Given the description of an element on the screen output the (x, y) to click on. 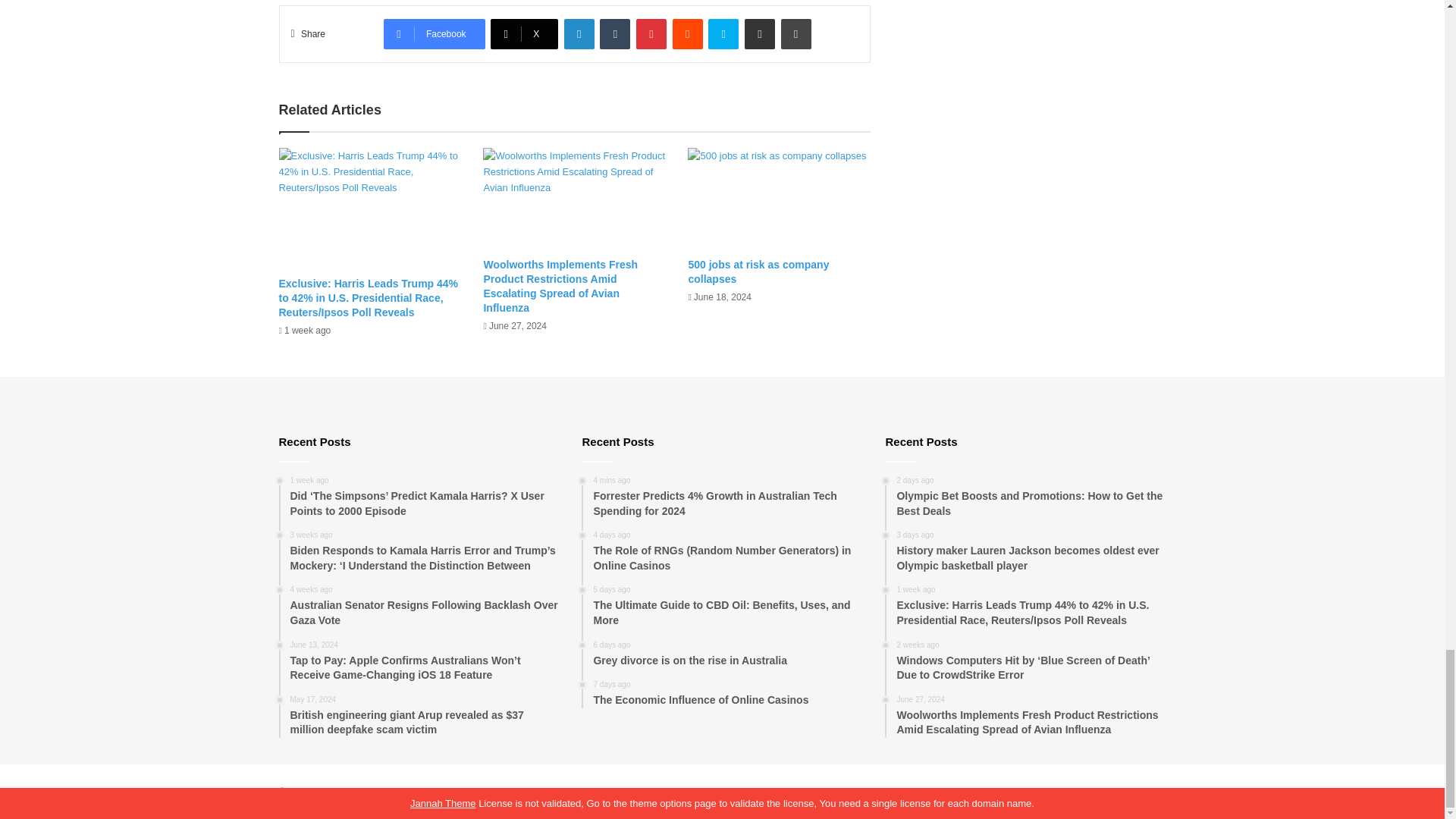
Facebook (434, 33)
Skype (722, 33)
Pinterest (651, 33)
Tumblr (614, 33)
X (523, 33)
Skype (722, 33)
Pinterest (651, 33)
LinkedIn (579, 33)
Tumblr (614, 33)
Facebook (434, 33)
X (523, 33)
Reddit (687, 33)
Reddit (687, 33)
LinkedIn (579, 33)
